Given the description of an element on the screen output the (x, y) to click on. 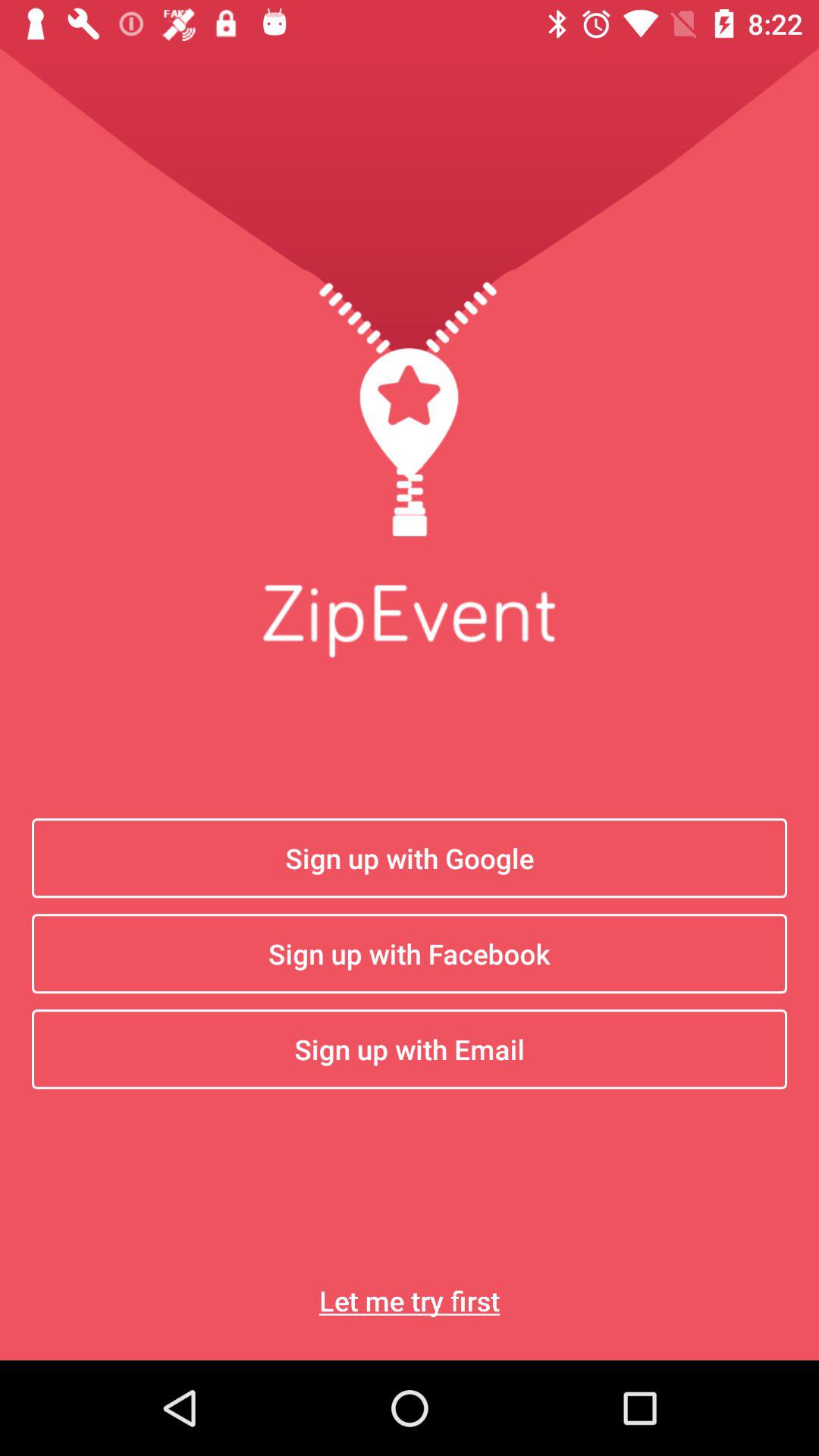
launch icon below sign up with (409, 1300)
